Given the description of an element on the screen output the (x, y) to click on. 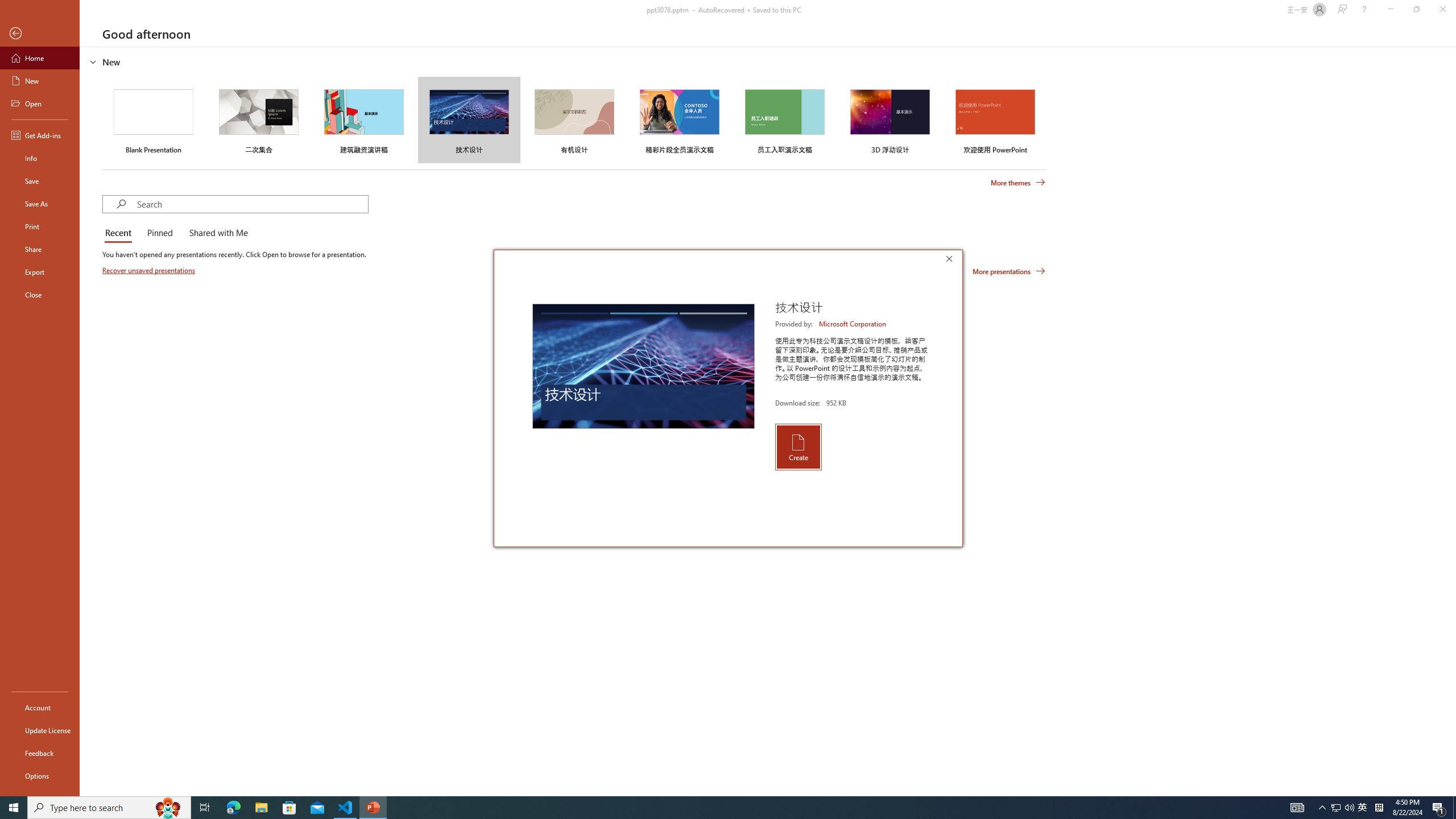
Blank Presentation (153, 119)
Save As (40, 203)
Recent (119, 233)
Shared with Me (215, 233)
